Given the description of an element on the screen output the (x, y) to click on. 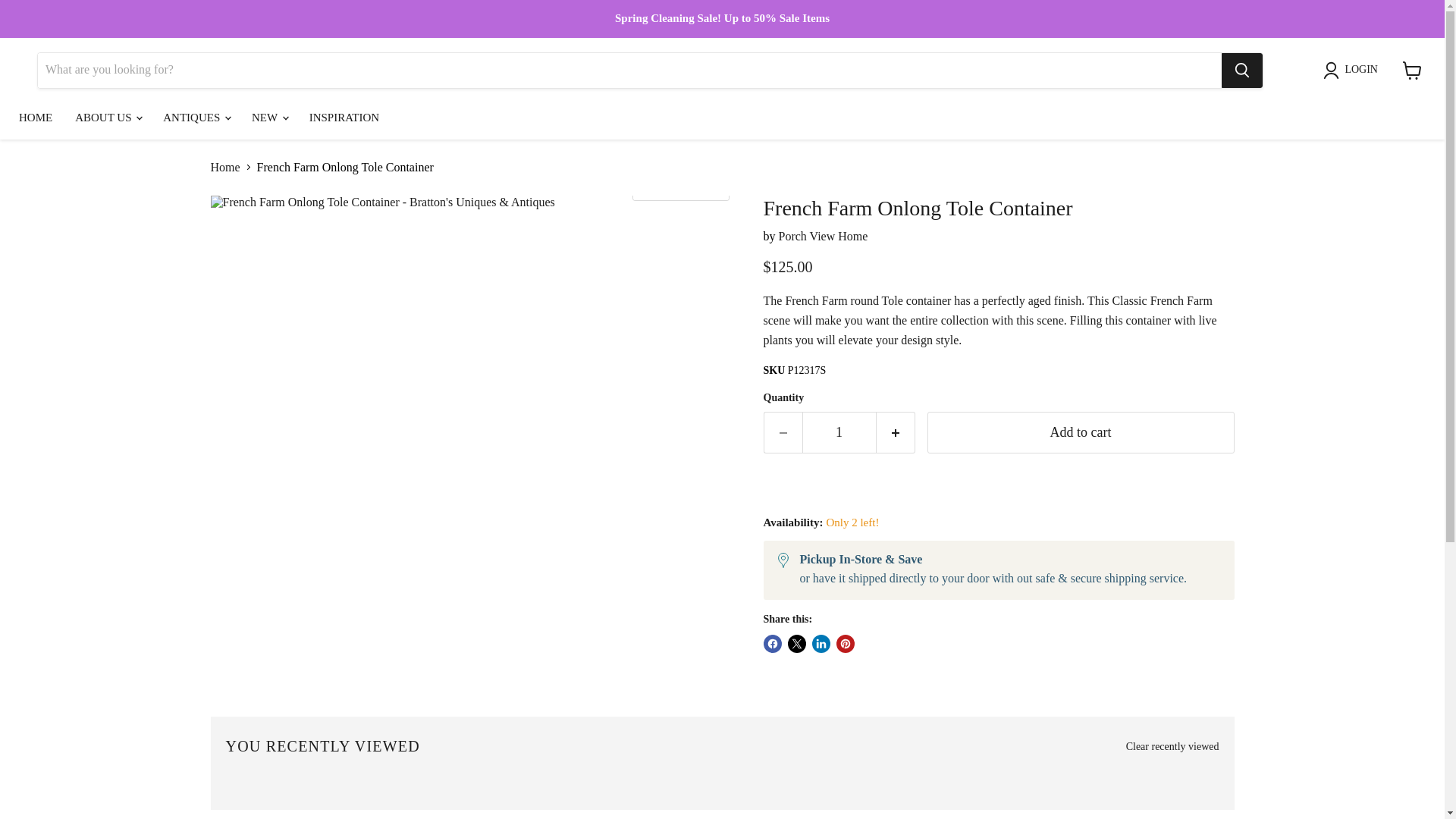
LOGIN (1353, 70)
HOME (35, 117)
View cart (1411, 69)
Porch View Home (822, 236)
1 (839, 432)
